Given the description of an element on the screen output the (x, y) to click on. 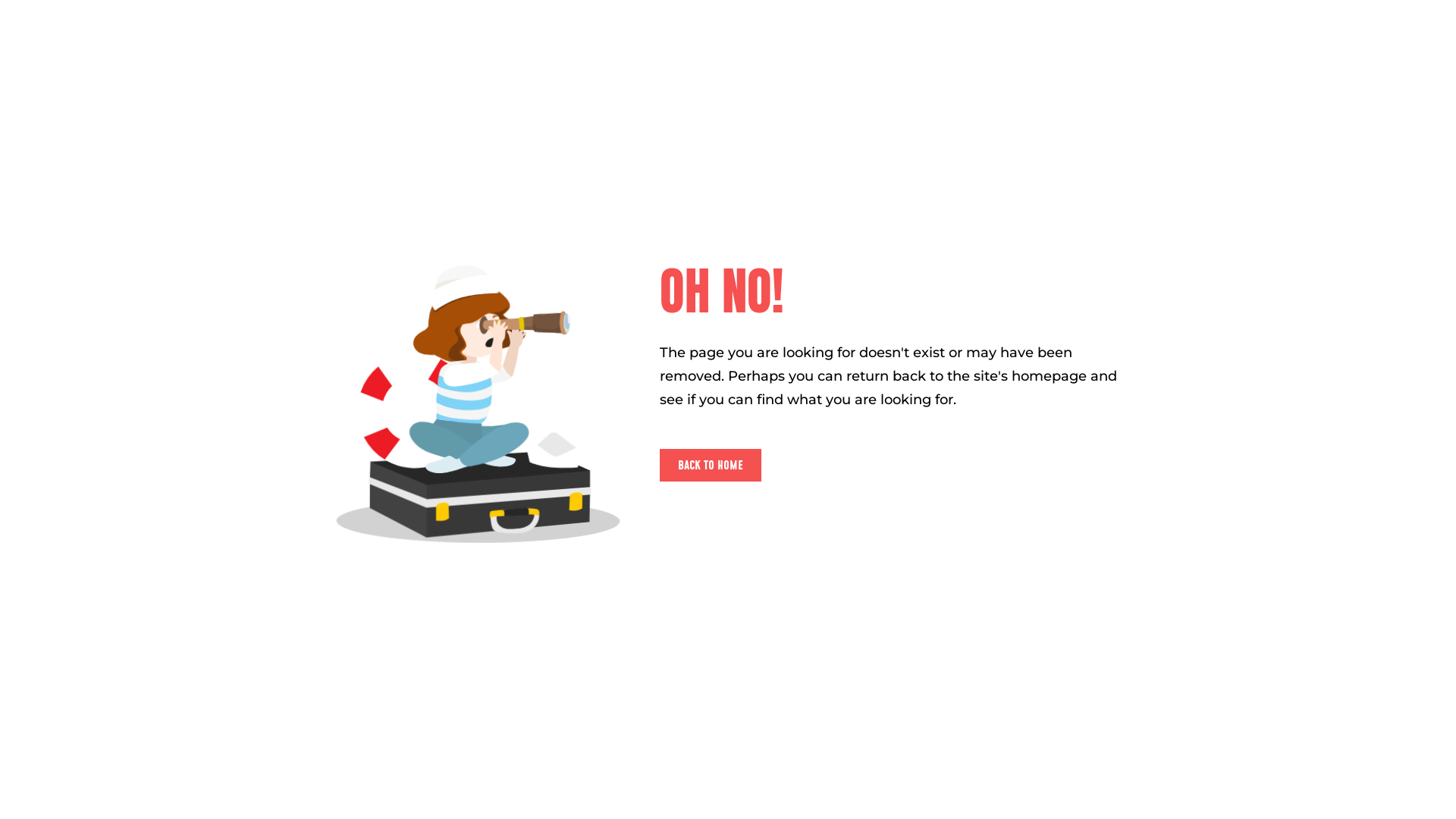
BACK TO HOME Element type: text (710, 464)
